Given the description of an element on the screen output the (x, y) to click on. 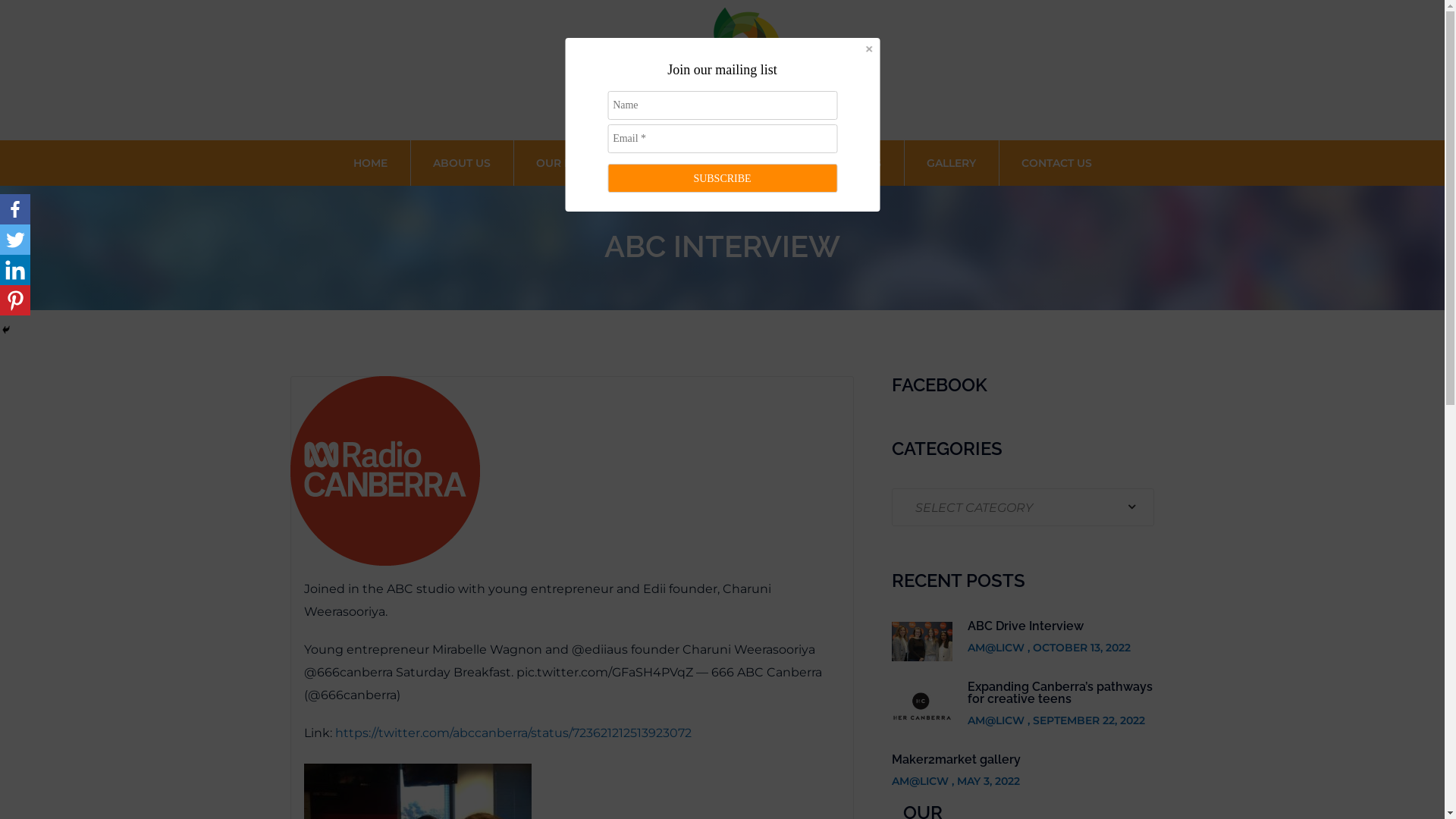
Maker2market gallery Element type: text (955, 759)
Linkedin Element type: hover (15, 269)
Twitter Element type: hover (15, 239)
OUR PROGRAMS Element type: text (581, 162)
GALLERY Element type: text (950, 162)
CONTACT US Element type: text (1055, 162)
ABC Drive Interview Element type: text (1025, 625)
SUBSCRIBE Element type: text (722, 177)
HOME Element type: text (370, 162)
Hide Element type: hover (6, 329)
Pinterest Element type: hover (15, 300)
https://twitter.com/abccanberra/status/723621212513923072 Element type: text (513, 732)
NEWS Element type: text (863, 162)
ABOUT US Element type: text (460, 162)
CONSULTING SERVICES Element type: text (736, 162)
Facebook Element type: hover (15, 209)
